Given the description of an element on the screen output the (x, y) to click on. 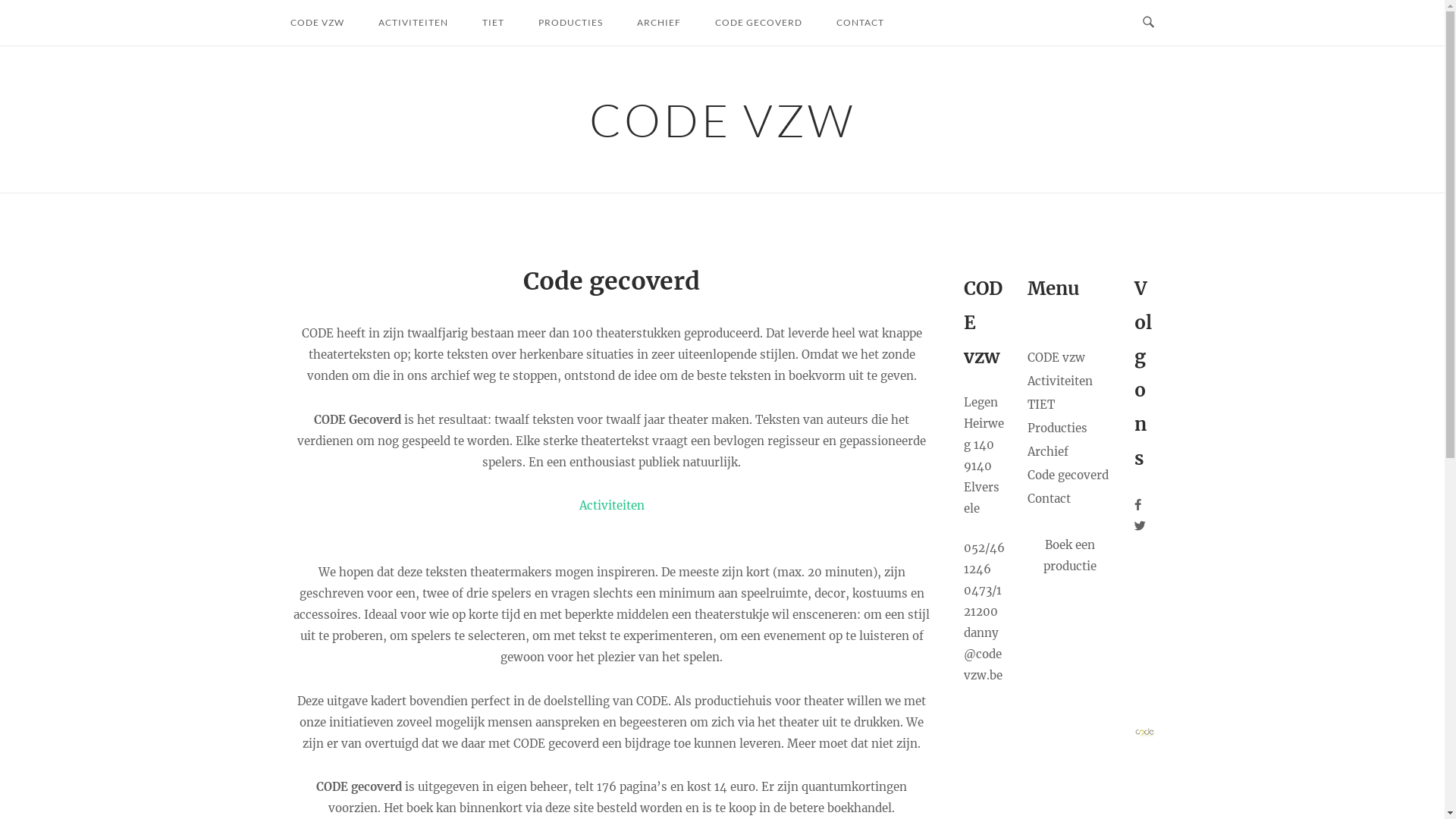
CODE VZW Element type: text (722, 119)
CODE VZW Element type: text (317, 22)
CONTACT Element type: text (860, 22)
0473/121200 Element type: text (982, 600)
CODE vzw Element type: text (1056, 357)
ACTIVITEITEN Element type: text (413, 22)
  Element type: text (1141, 525)
PRODUCTIES Element type: text (569, 22)
CODE GECOVERD Element type: text (758, 22)
danny@codevzw.be Element type: text (982, 653)
Activiteiten Element type: text (611, 505)
Boek een productie Element type: text (1069, 555)
TIET Element type: text (1040, 404)
Activiteiten Element type: text (1059, 380)
Contact Element type: text (1048, 498)
052/461246 Element type: text (983, 558)
TIET Element type: text (492, 22)
Producties Element type: text (1057, 427)
Archief Element type: text (1047, 451)
ARCHIEF Element type: text (657, 22)
Code gecoverd Element type: text (1067, 474)
